Given the description of an element on the screen output the (x, y) to click on. 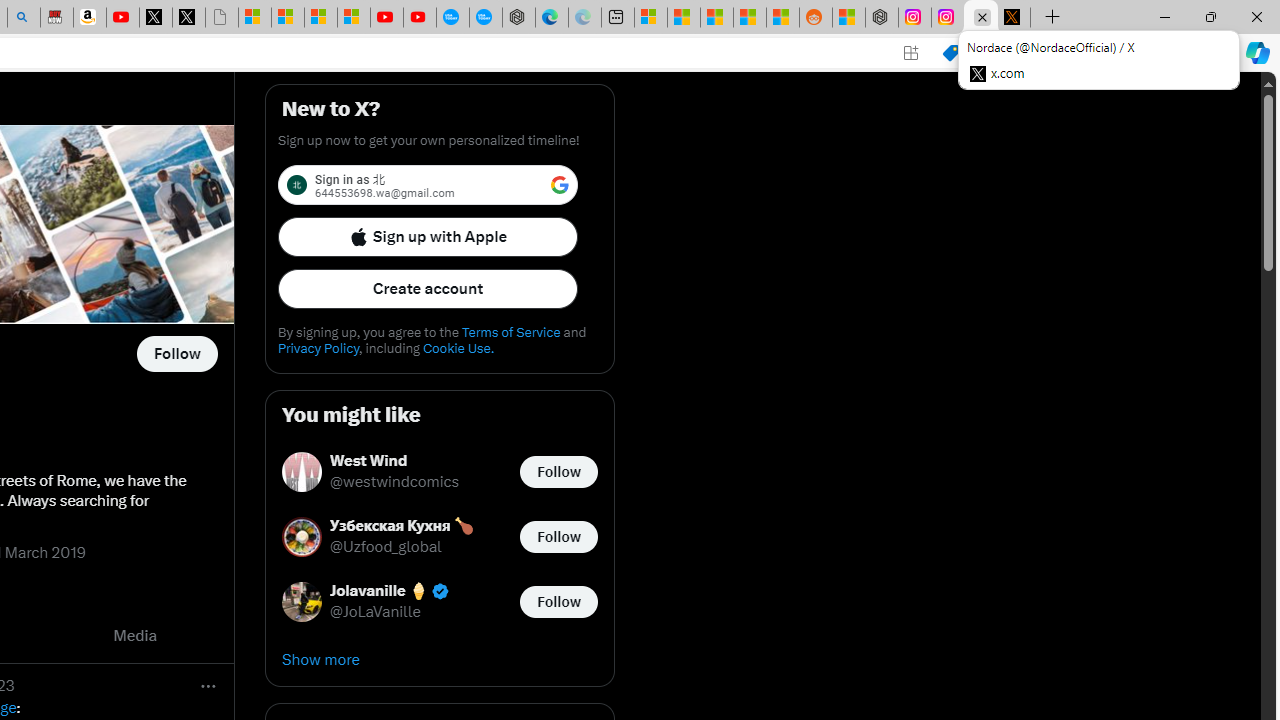
More (207, 685)
Class: LgbsSe-Bz112c (559, 184)
The most popular Google 'how to' searches (485, 17)
Follow @NordaceOfficial (176, 354)
Media (135, 636)
